Given the description of an element on the screen output the (x, y) to click on. 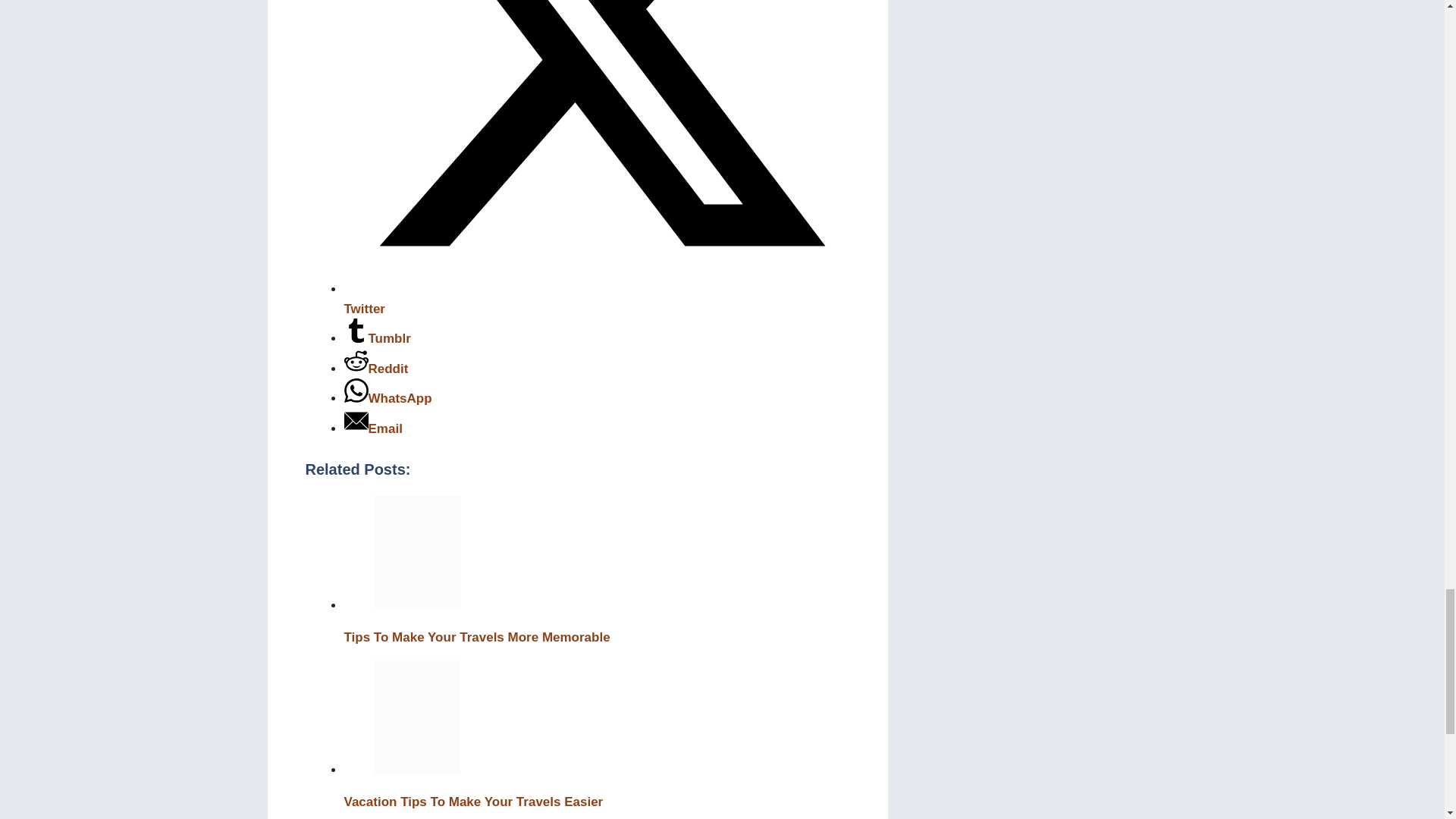
Share on Twitter (596, 298)
Share on Reddit (376, 368)
Share on Email (373, 428)
Share on Tumblr (376, 338)
Share on WhatsApp (387, 398)
